Given the description of an element on the screen output the (x, y) to click on. 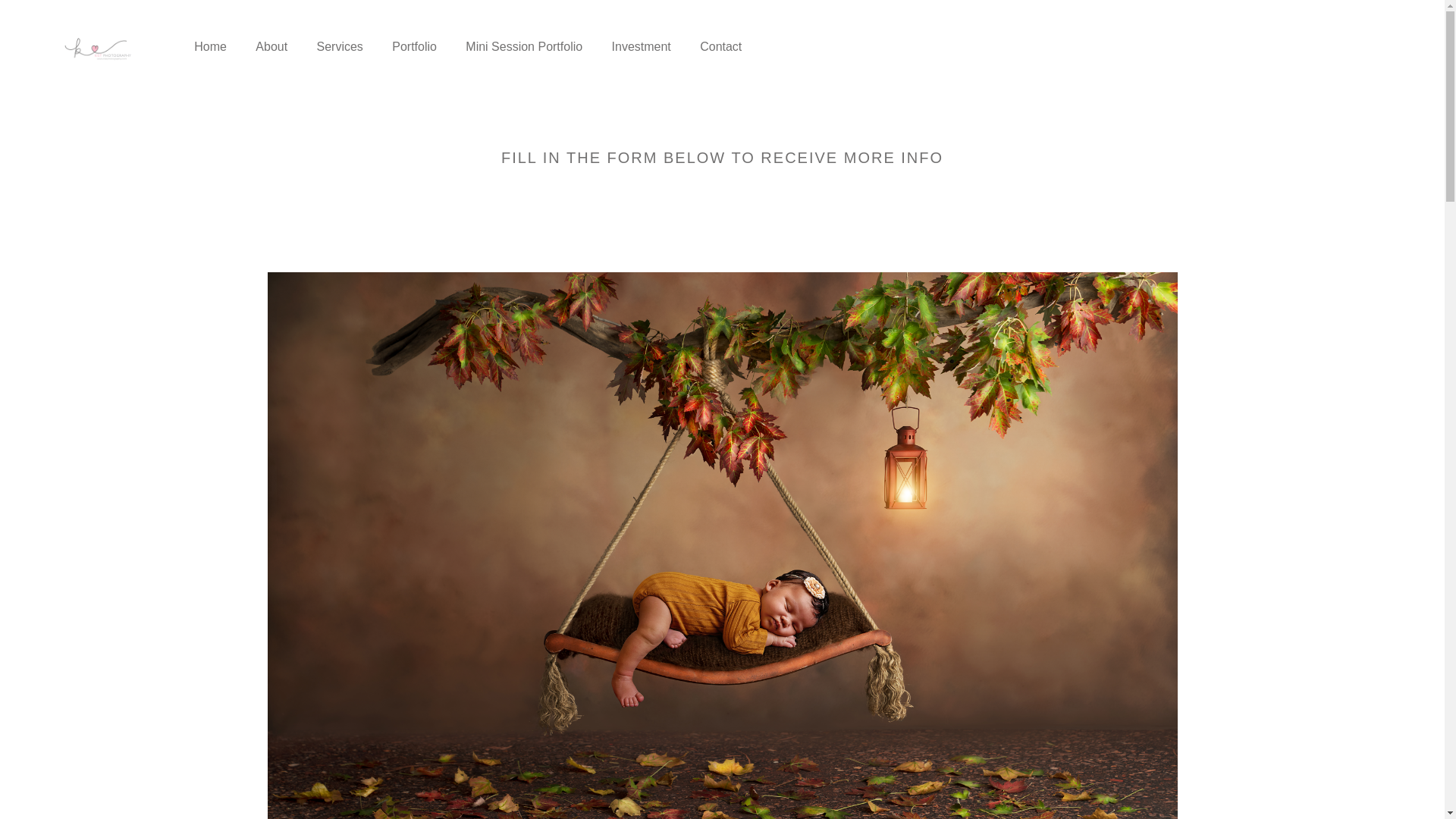
Services (339, 46)
Home (210, 46)
Portfolio (414, 46)
About (271, 46)
Investment (640, 46)
Mini Session Portfolio (523, 46)
Contact (721, 46)
